Given the description of an element on the screen output the (x, y) to click on. 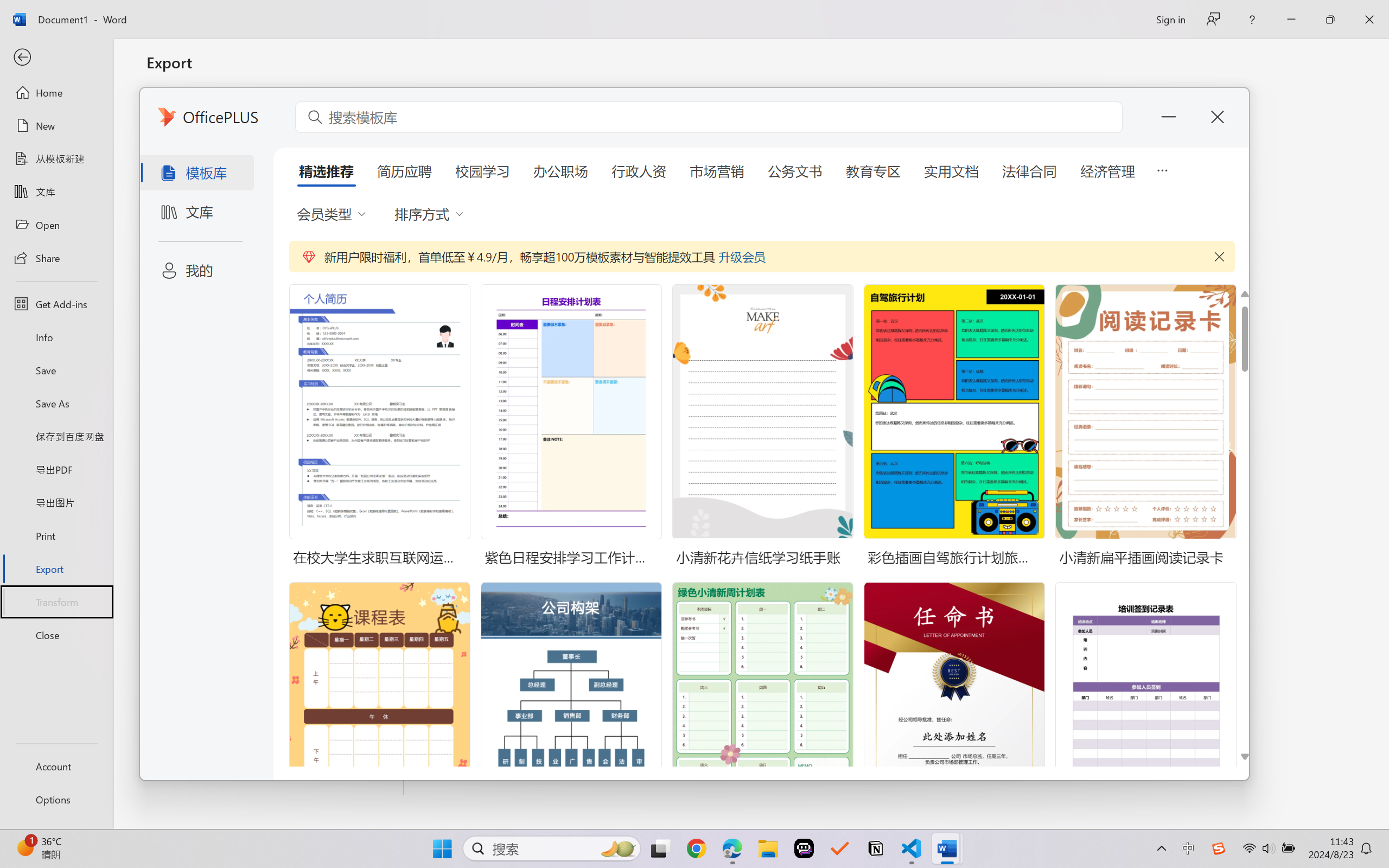
Change File Type (275, 158)
5 more tabs (1161, 169)
New (56, 125)
Print (56, 535)
